Given the description of an element on the screen output the (x, y) to click on. 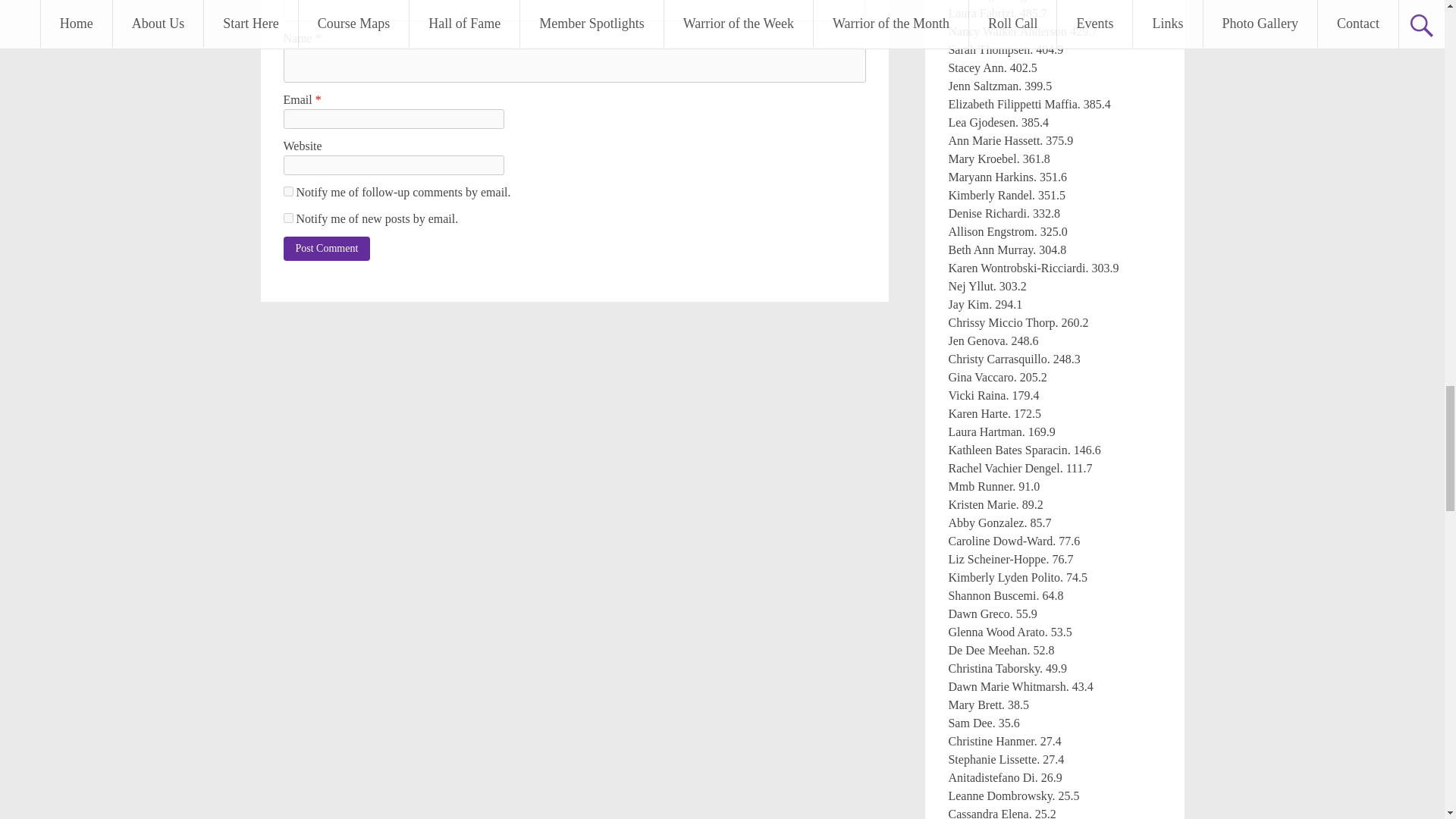
Post Comment (327, 248)
subscribe (288, 191)
subscribe (288, 217)
